Given the description of an element on the screen output the (x, y) to click on. 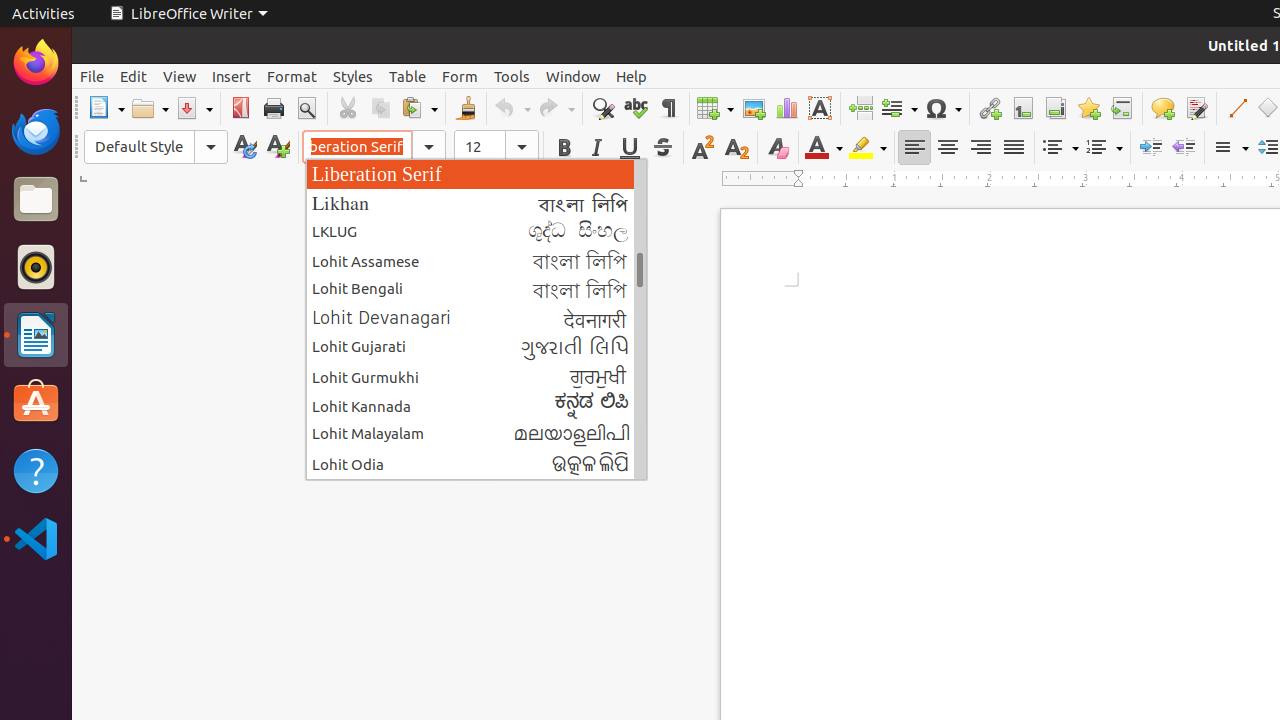
Paste Element type: push-button (419, 108)
Comment Element type: push-button (1162, 108)
Lohit Gurmukhi Element type: list-item (476, 376)
Footnote Element type: push-button (1022, 108)
Help Element type: menu (631, 76)
